Given the description of an element on the screen output the (x, y) to click on. 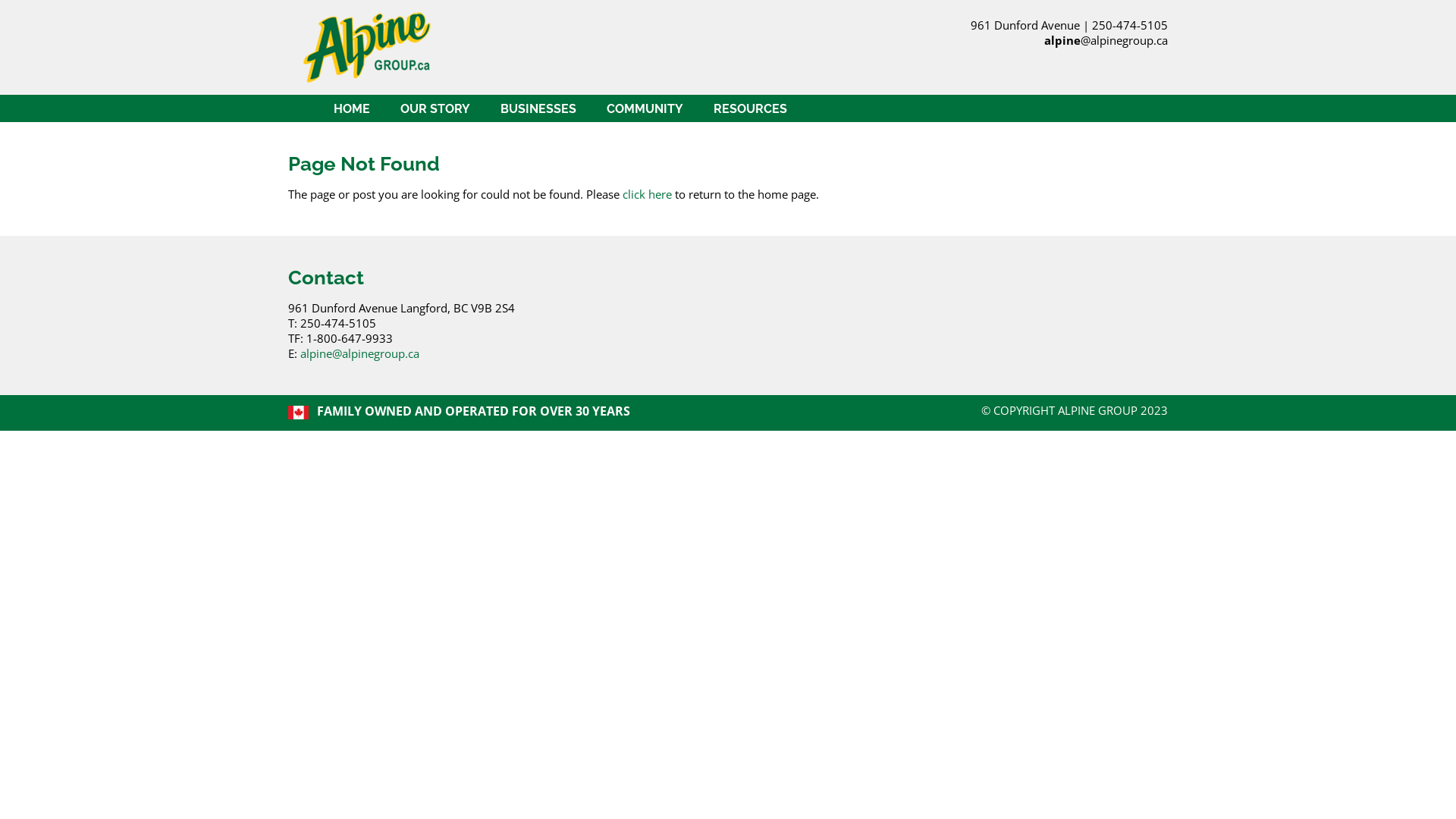
BUSINESSES Element type: text (538, 108)
click here Element type: text (646, 193)
OUR STORY Element type: text (435, 108)
COMMUNITY Element type: text (644, 108)
RESOURCES Element type: text (750, 108)
HOME Element type: text (351, 108)
alpine@alpinegroup.ca Element type: text (1105, 39)
alpine@alpinegroup.ca Element type: text (359, 352)
